Given the description of an element on the screen output the (x, y) to click on. 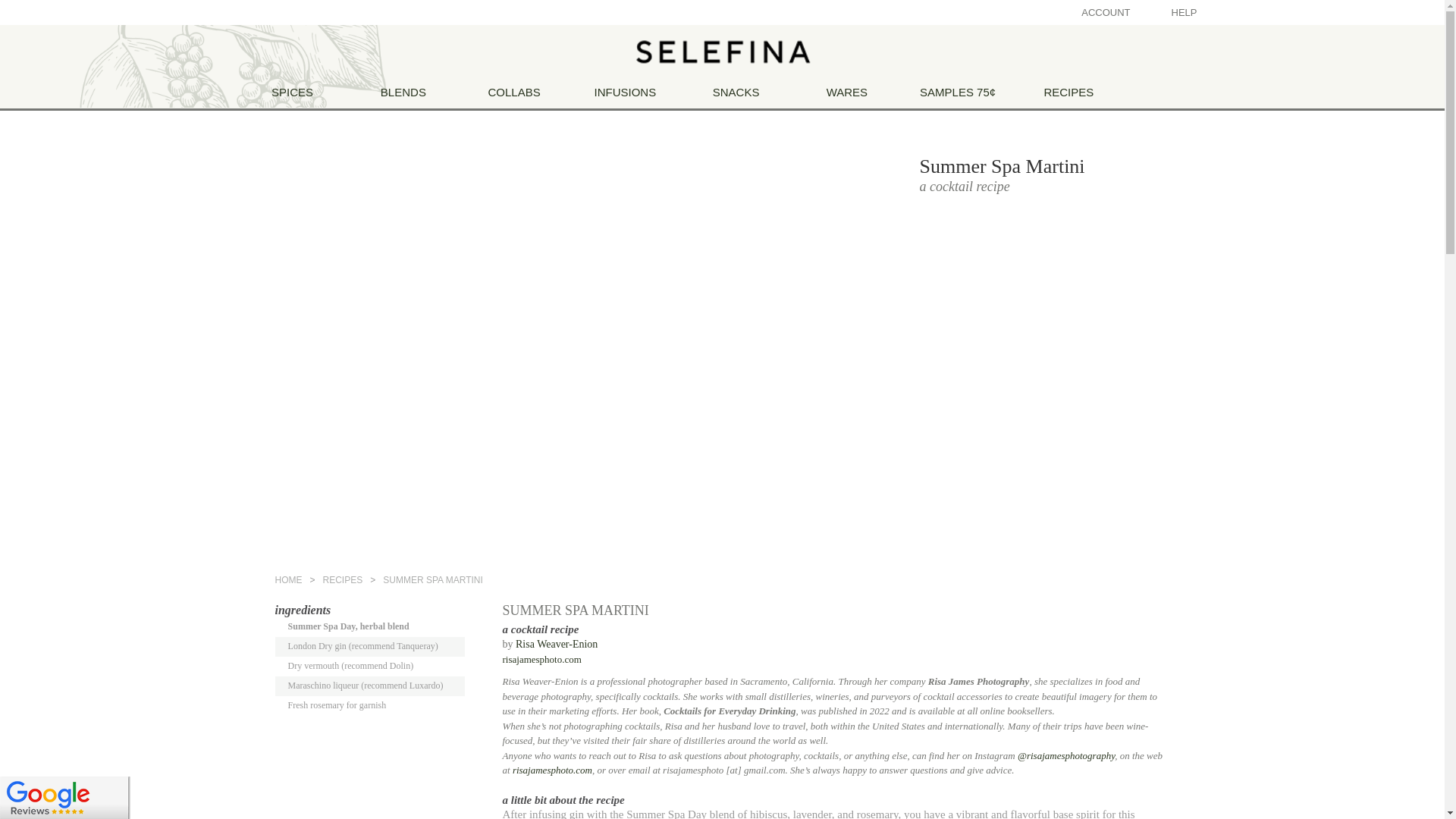
COLLABS (513, 91)
INFUSIONS (625, 91)
WARES (847, 91)
SUMMER SPA MARTINI (432, 579)
RECIPES (1068, 91)
HOME (288, 579)
RECIPES (342, 579)
Risa Weaver-Enion (555, 644)
risajamesphoto.com (552, 769)
risajamesphoto.com (541, 659)
